Given the description of an element on the screen output the (x, y) to click on. 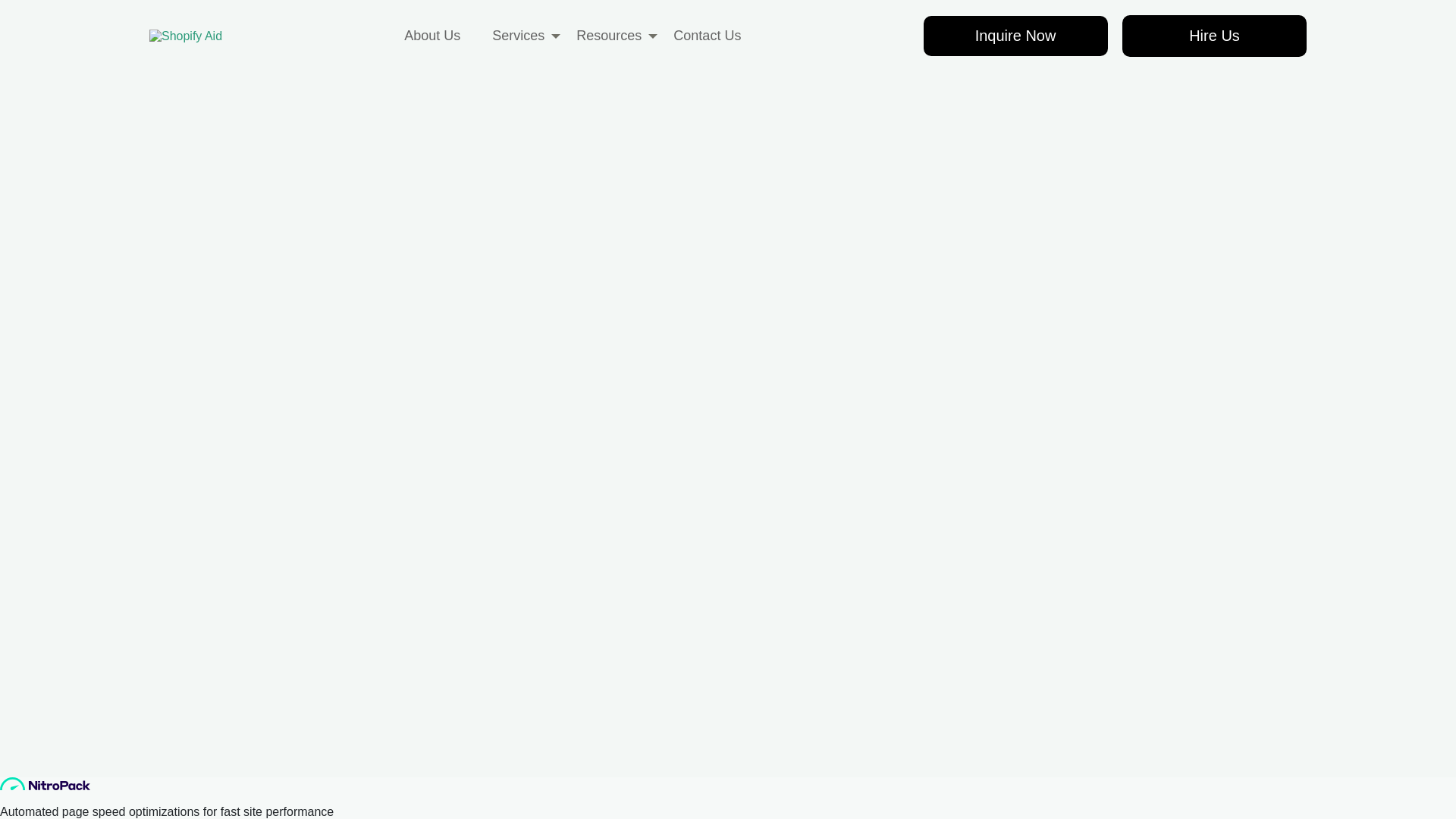
Hire Us (1214, 4)
Services (518, 4)
Resources (609, 4)
Contact Us (706, 3)
Inquire Now (1015, 4)
About Us (432, 3)
